Given the description of an element on the screen output the (x, y) to click on. 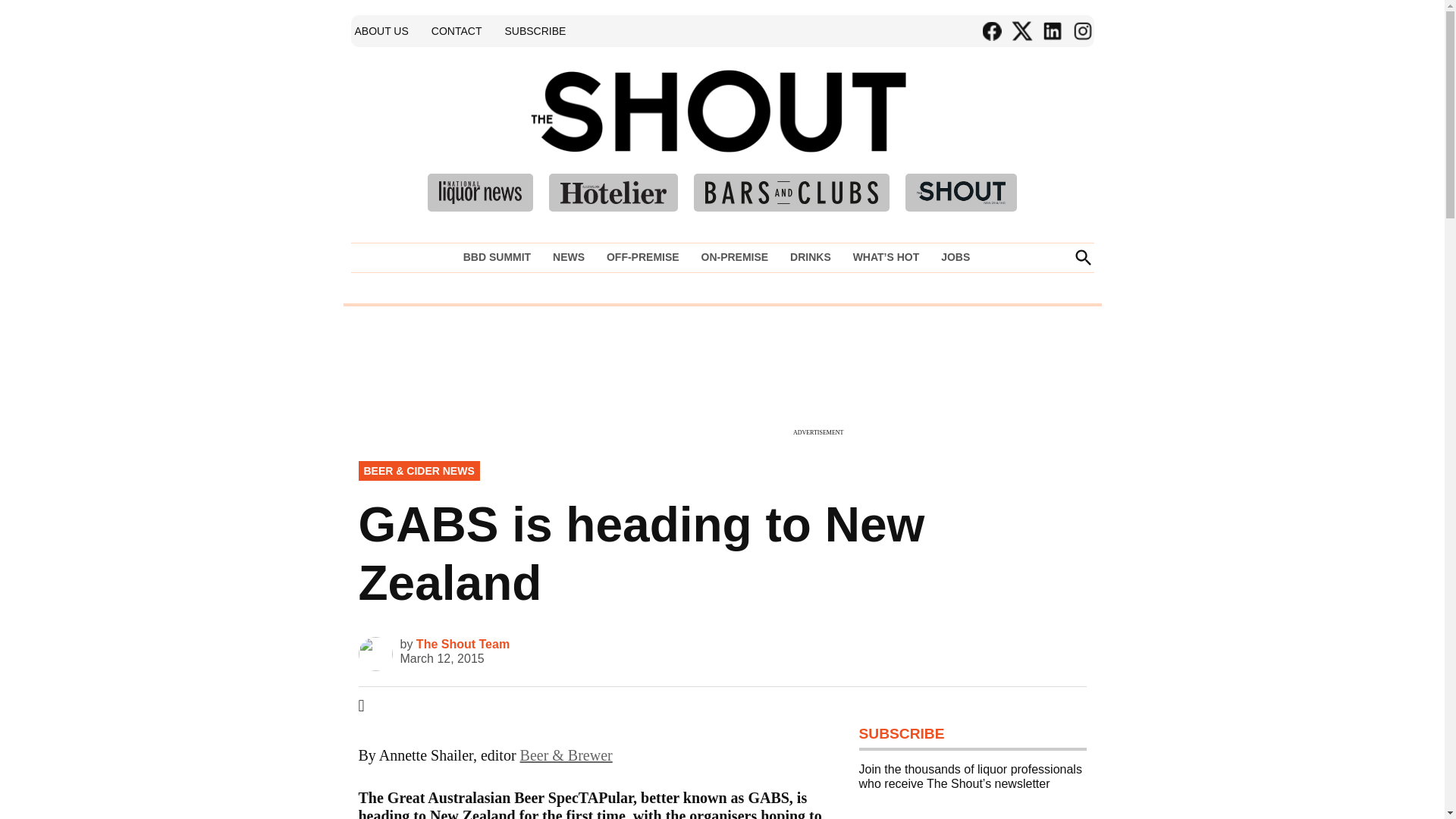
OFF-PREMISE (642, 256)
BBD SUMMIT (500, 256)
ABOUT US (381, 30)
NEWS (568, 256)
ON-PREMISE (734, 256)
CONTACT (457, 30)
Facebook (991, 31)
The Shout (939, 133)
SUBSCRIBE (534, 30)
Twitter (1021, 31)
Linkedin (1051, 31)
Instagram (1081, 31)
